Given the description of an element on the screen output the (x, y) to click on. 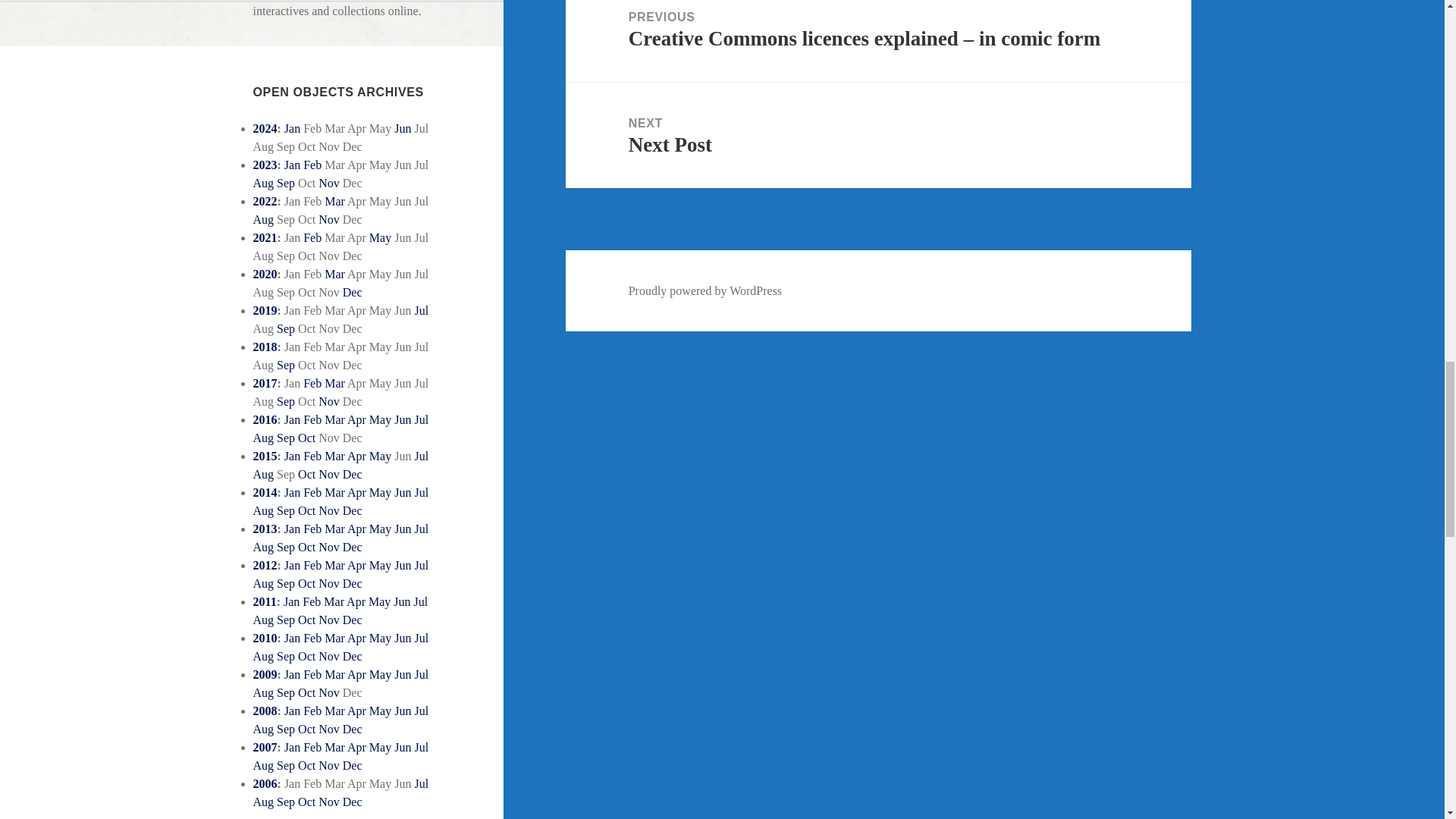
Aug (264, 219)
Jan (291, 164)
January 2001 (291, 164)
2019 (265, 309)
March 2001 (334, 201)
March 2001 (334, 273)
January 2001 (291, 128)
September 2001 (285, 328)
September 2001 (285, 182)
2023 (265, 164)
